Given the description of an element on the screen output the (x, y) to click on. 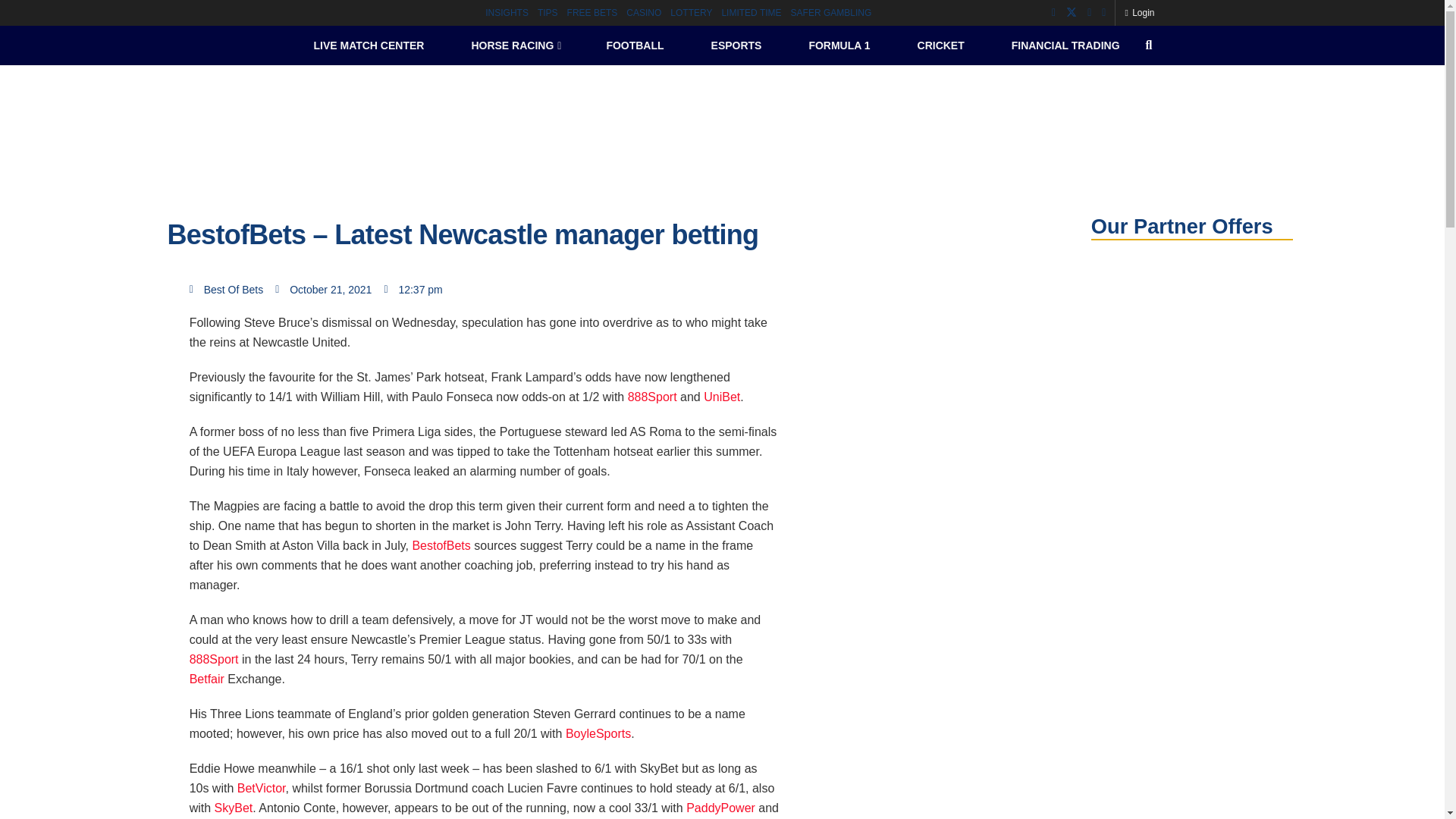
LIMITED TIME (750, 12)
CASINO (643, 12)
CRICKET (940, 45)
ESPORTS (736, 45)
FINANCIAL TRADING (1065, 45)
Login (1139, 12)
FOOTBALL (634, 45)
FORMULA 1 (838, 45)
LOTTERY (690, 12)
INSIGHTS (506, 12)
